Given the description of an element on the screen output the (x, y) to click on. 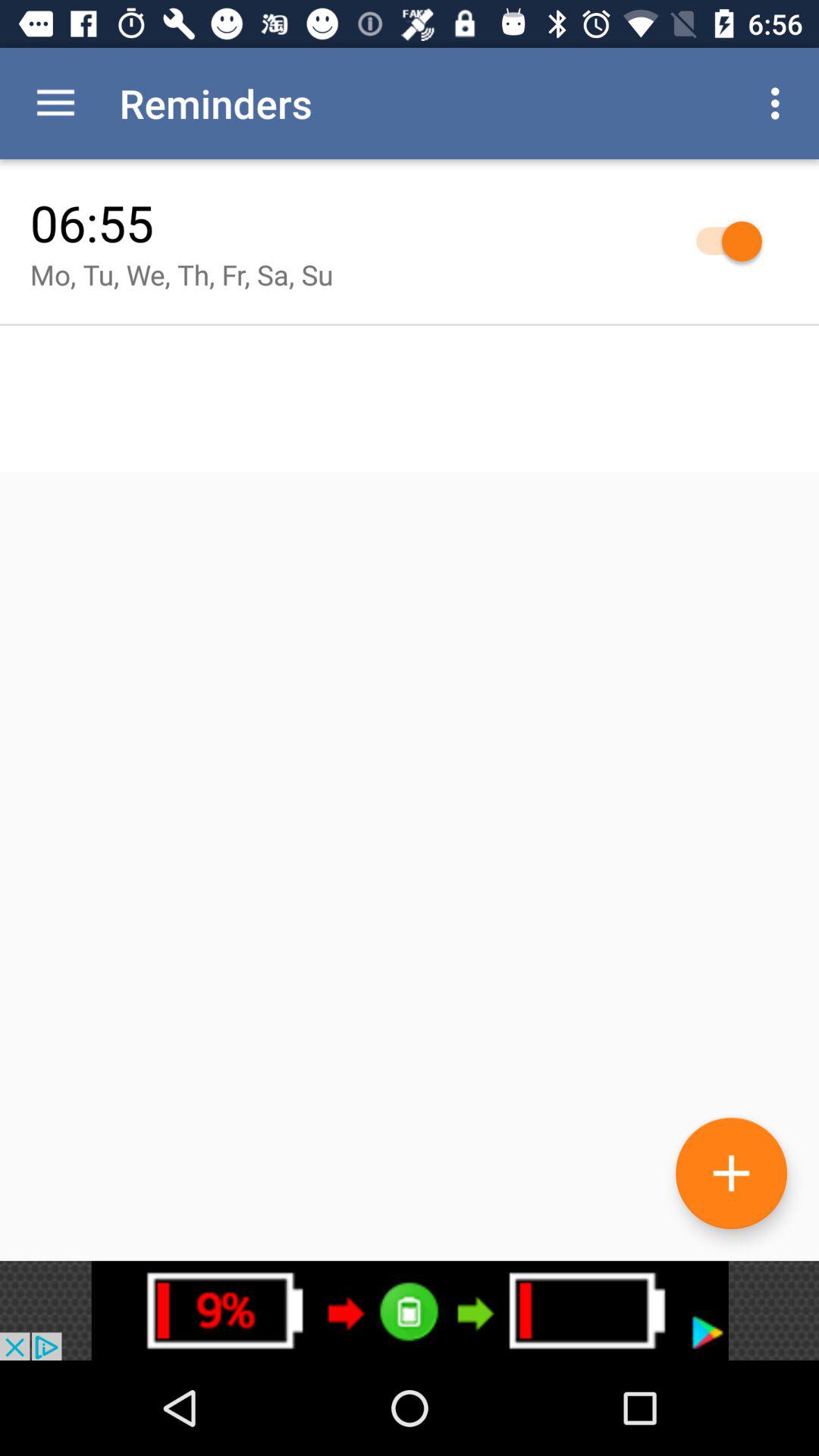
open advertisement (409, 1310)
